Given the description of an element on the screen output the (x, y) to click on. 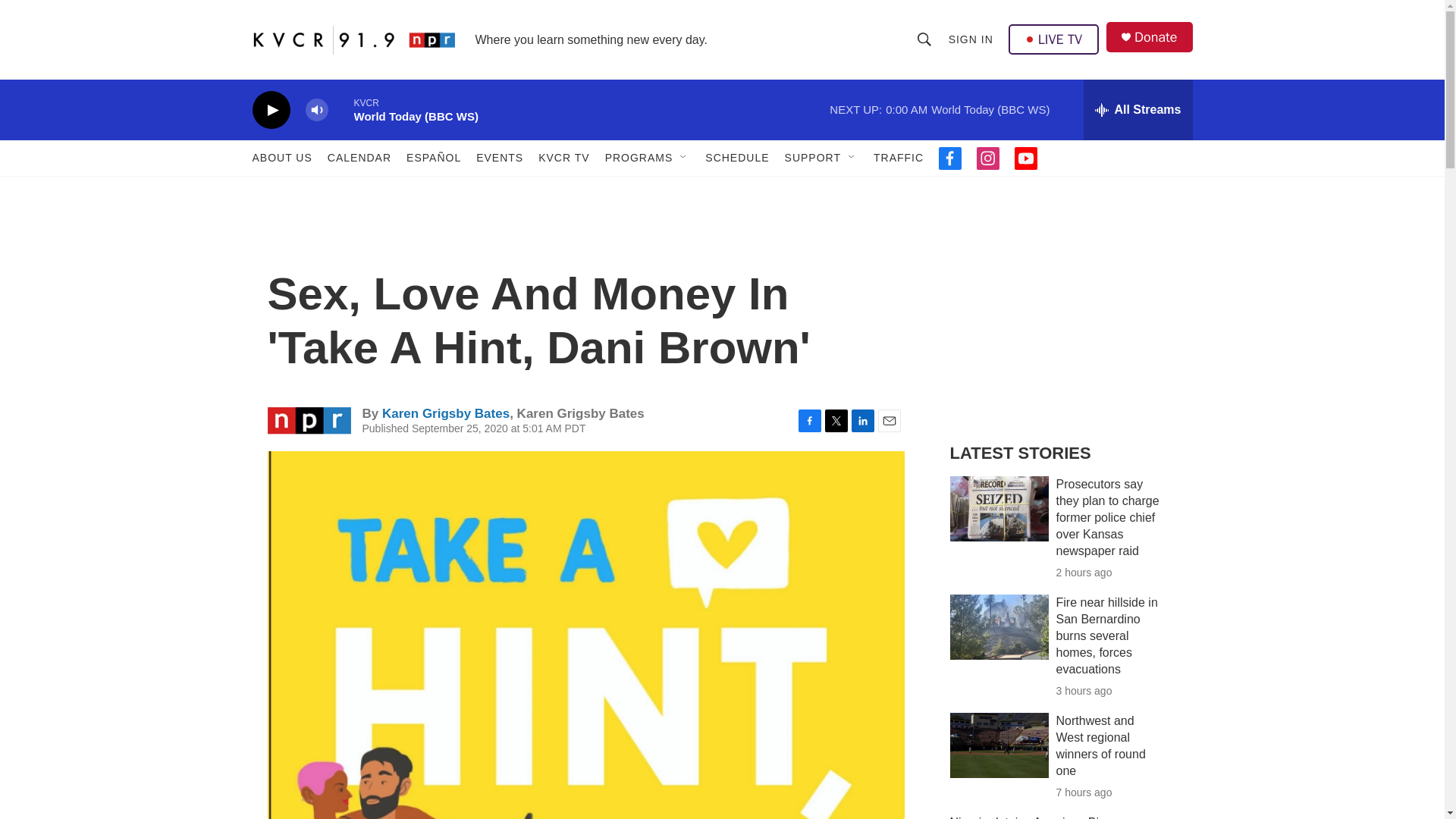
Show Search (924, 39)
3rd party ad content (1062, 316)
